Given the description of an element on the screen output the (x, y) to click on. 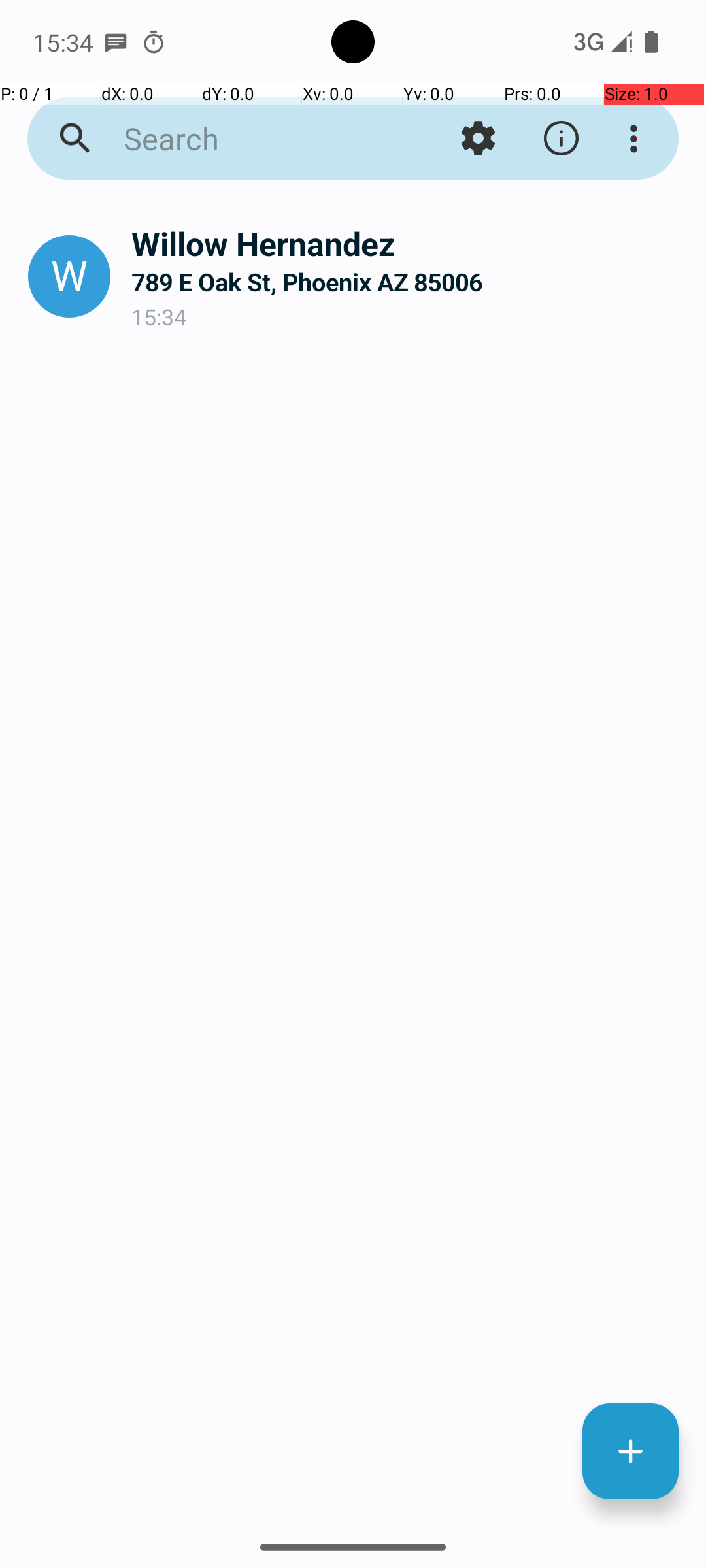
Willow Hernandez Element type: android.widget.TextView (408, 242)
789 E Oak St, Phoenix AZ 85006 Element type: android.widget.TextView (408, 281)
SMS Messenger notification: Willow Hernandez Element type: android.widget.ImageView (115, 41)
